Given the description of an element on the screen output the (x, y) to click on. 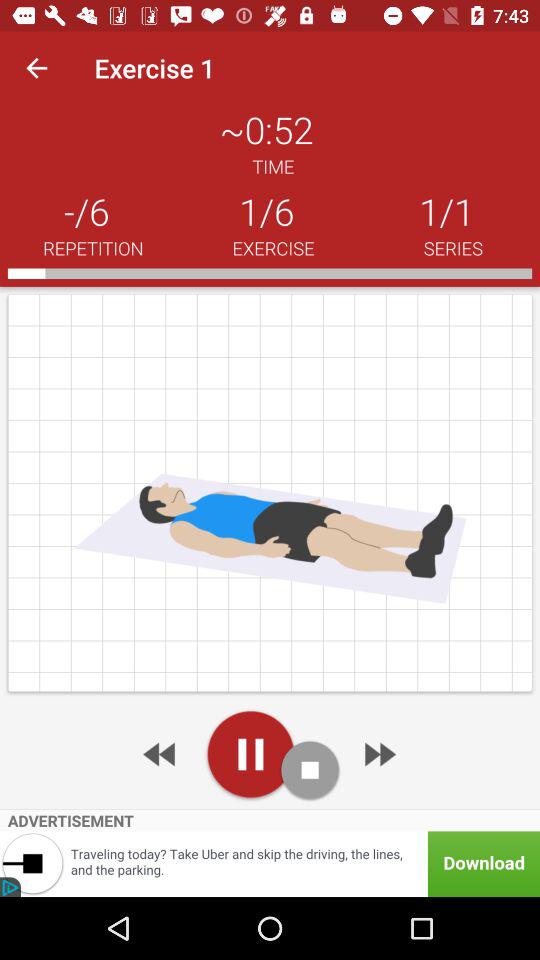
go backwards (161, 754)
